Given the description of an element on the screen output the (x, y) to click on. 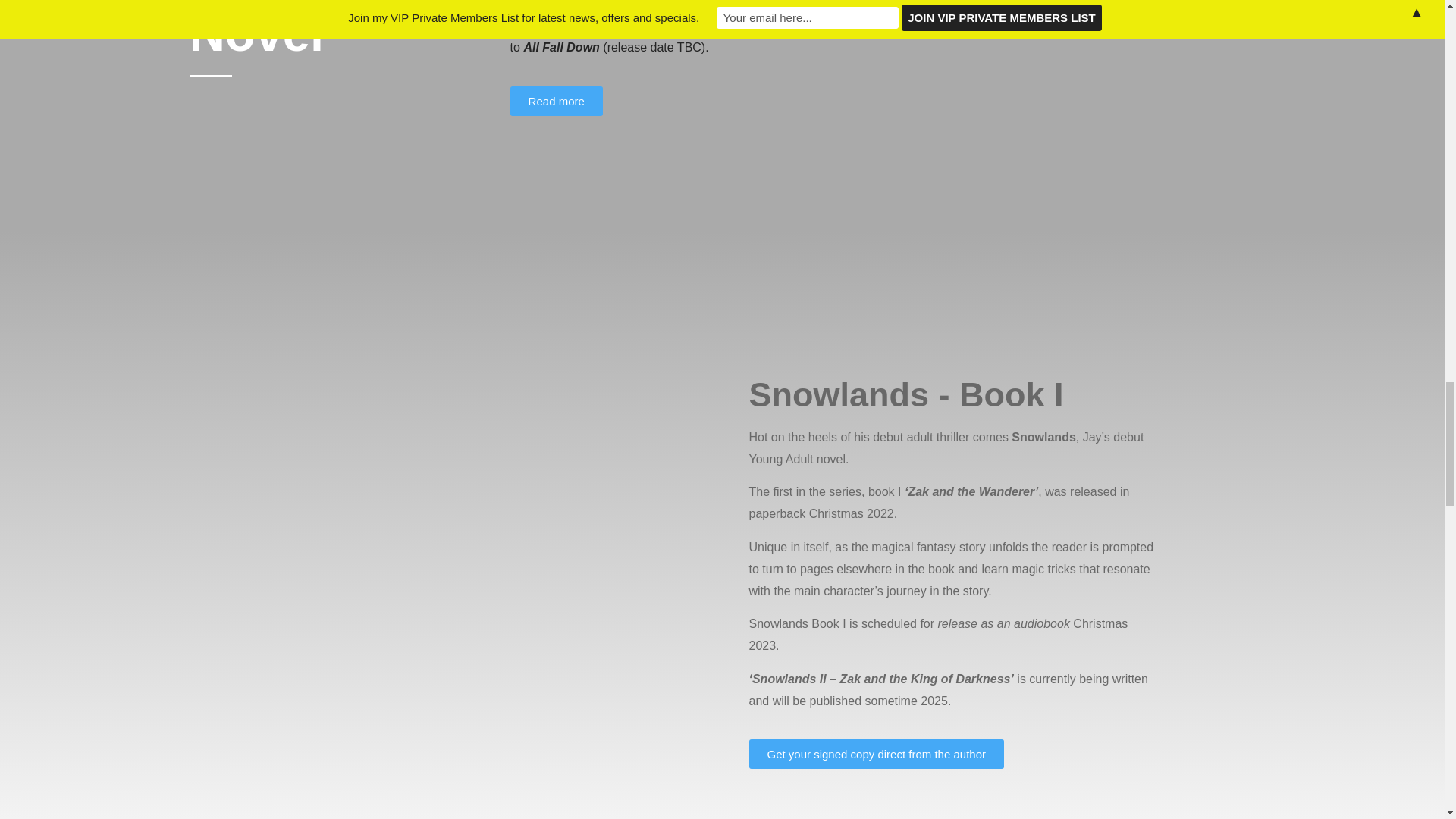
signed, dedicated copy here (781, 2)
Read more (556, 101)
Get your signed copy direct from the author (876, 754)
